Given the description of an element on the screen output the (x, y) to click on. 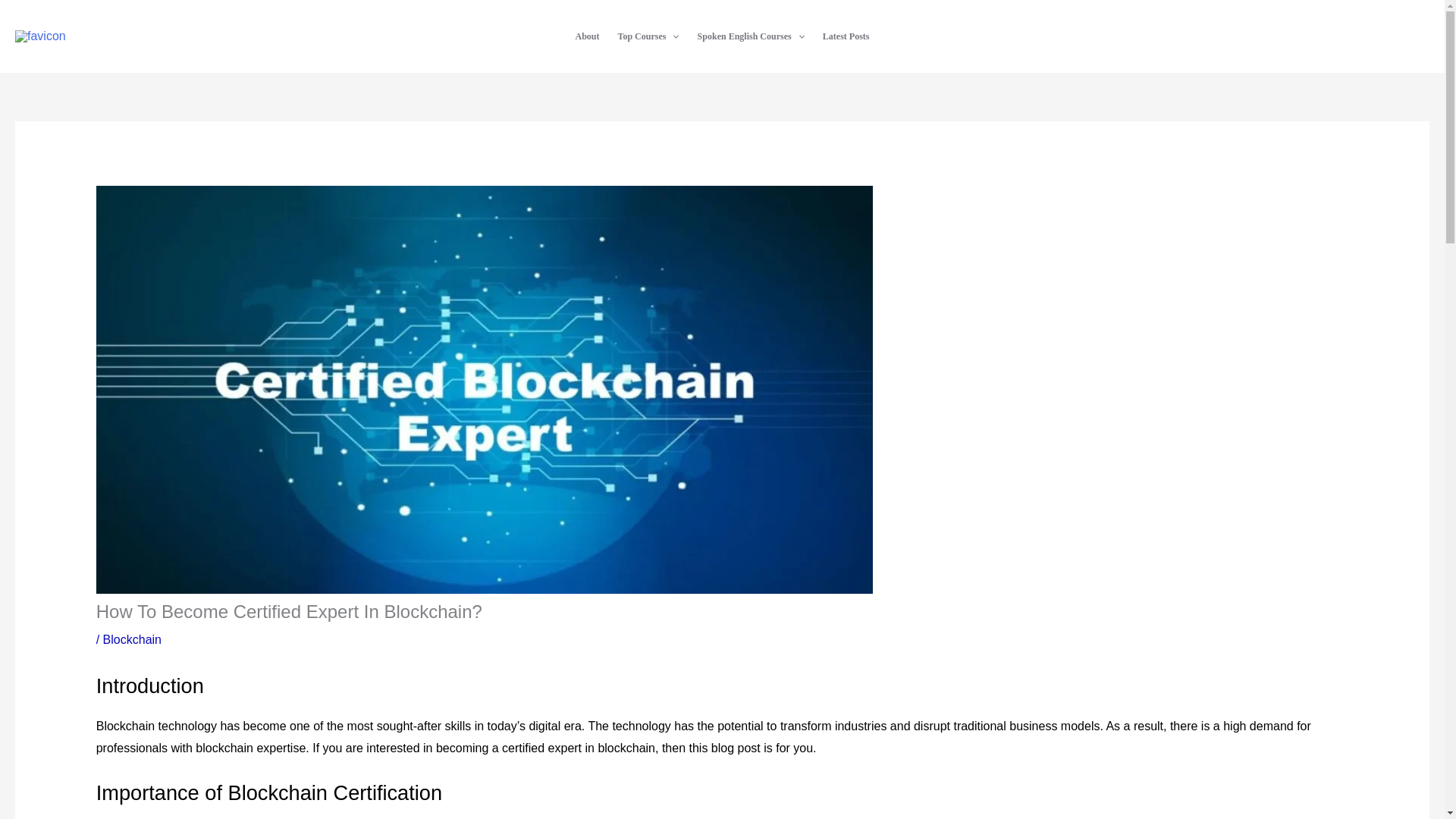
Latest Posts (846, 36)
Spoken English Courses (750, 36)
Top Courses (647, 36)
Blockchain (132, 639)
